Given the description of an element on the screen output the (x, y) to click on. 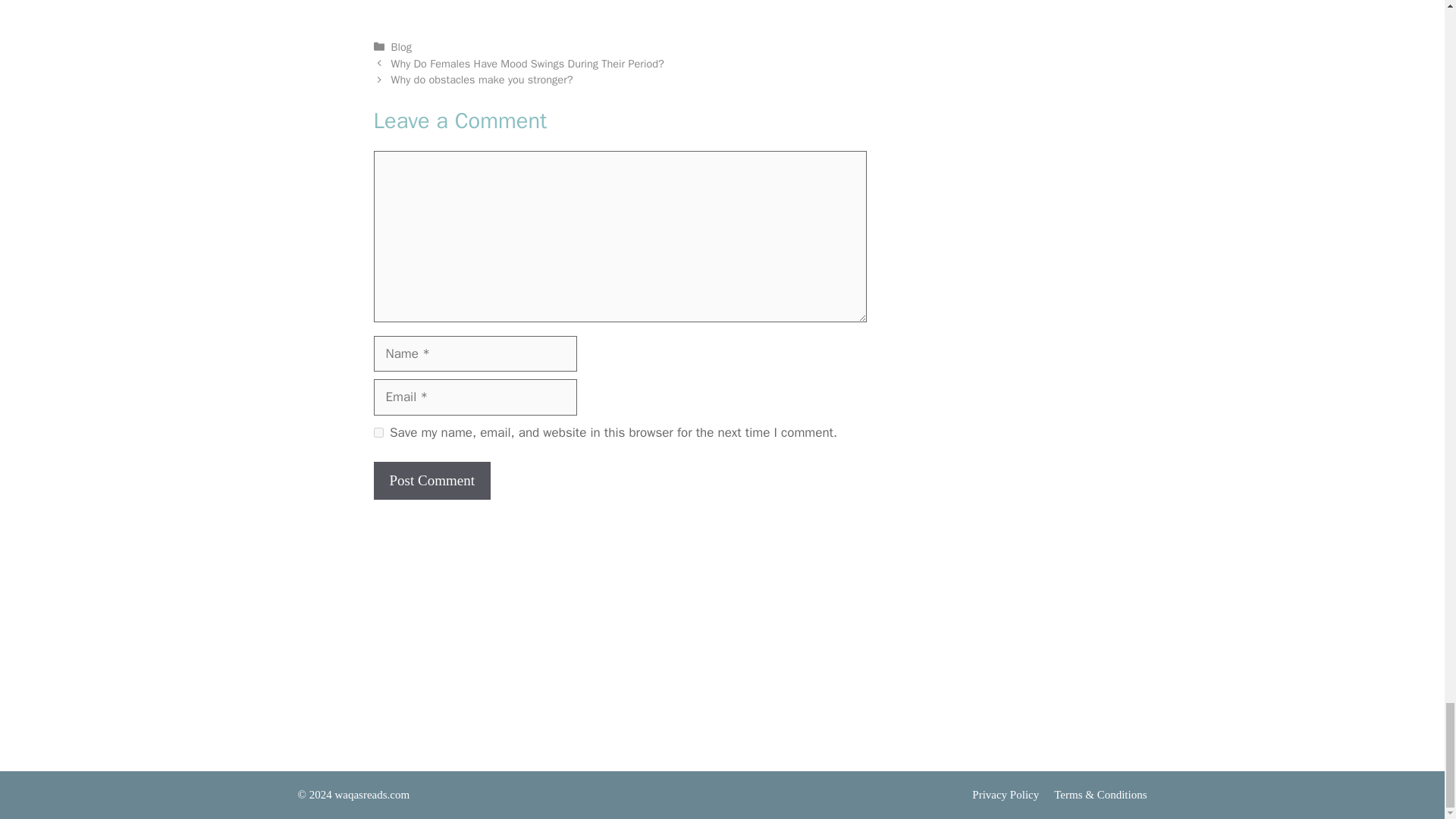
Privacy Policy (1005, 794)
Blog (401, 47)
Why do obstacles make you stronger? (482, 79)
Post Comment (430, 480)
Why Do Females Have Mood Swings During Their Period? (527, 63)
yes (377, 432)
Post Comment (430, 480)
